Given the description of an element on the screen output the (x, y) to click on. 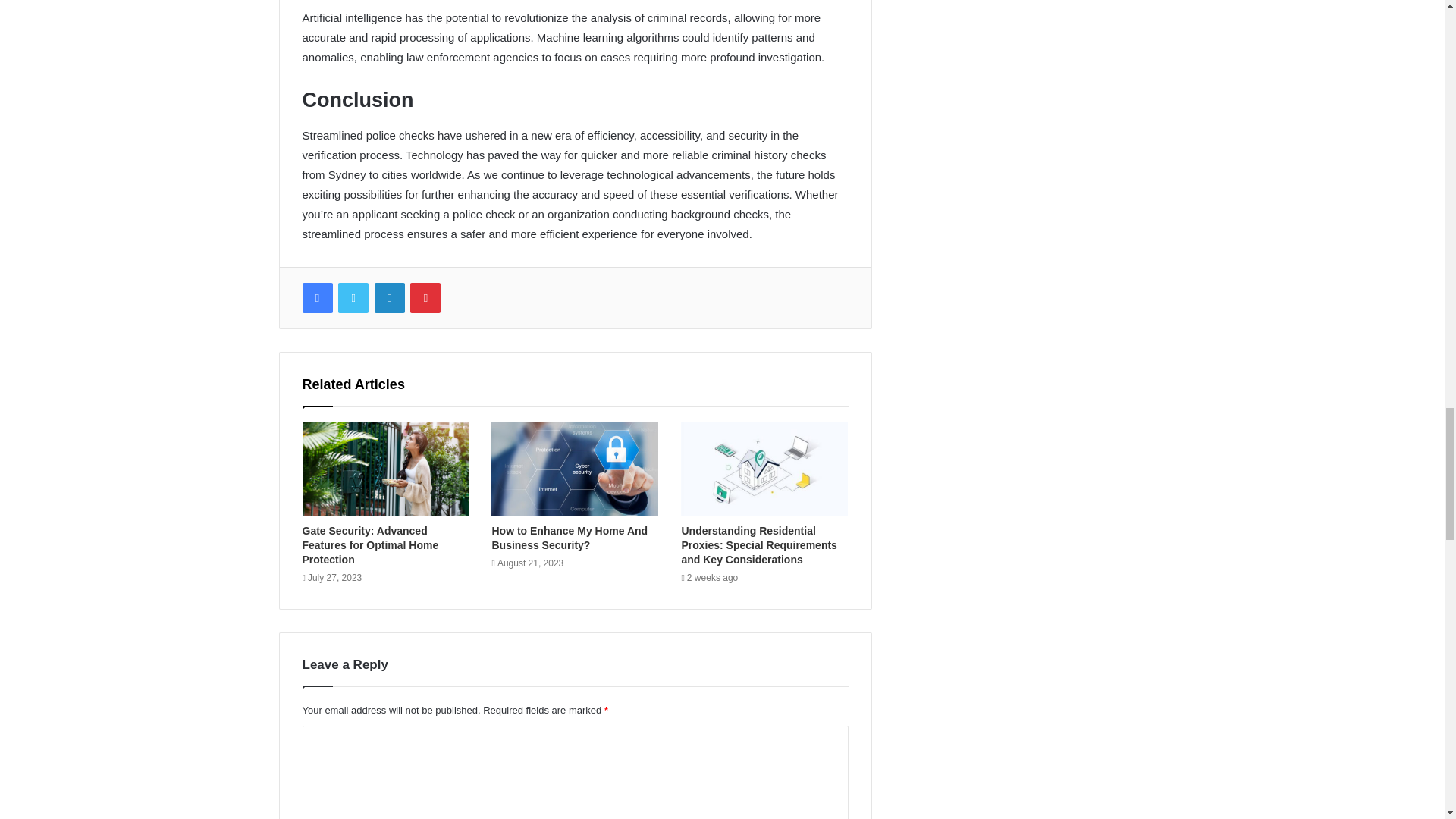
Twitter (352, 297)
Facebook (316, 297)
Pinterest (425, 297)
Pinterest (425, 297)
Twitter (352, 297)
Facebook (316, 297)
LinkedIn (389, 297)
LinkedIn (389, 297)
Gate Security: Advanced Features for Optimal Home Protection (369, 544)
